Given the description of an element on the screen output the (x, y) to click on. 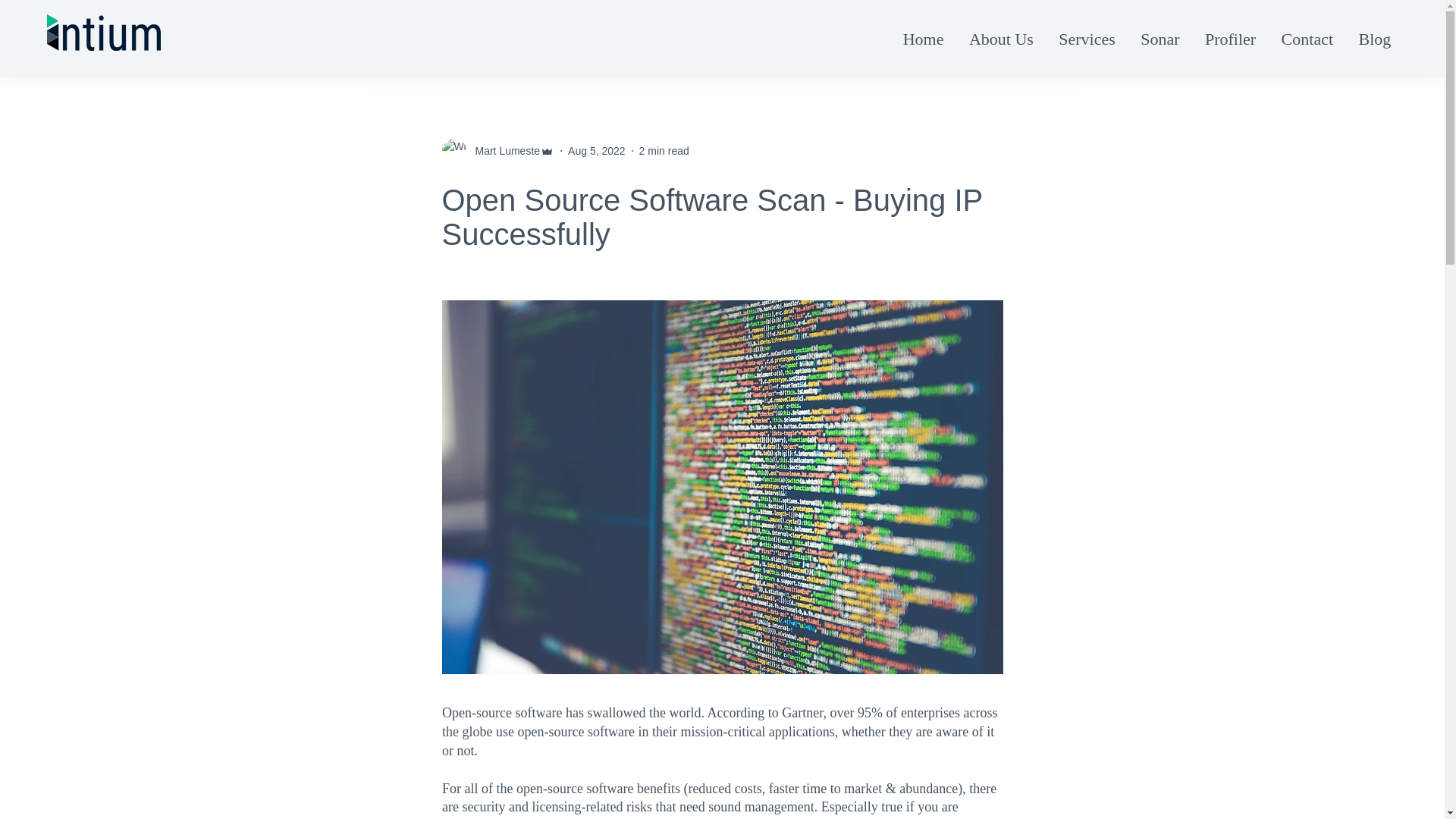
2 min read (663, 150)
Blog (1374, 38)
Aug 5, 2022 (596, 150)
Profiler (1230, 38)
Mart Lumeste (502, 150)
Contact (1306, 38)
Services (1087, 38)
About Us (1000, 38)
Sonar (1160, 38)
Home (923, 38)
